Given the description of an element on the screen output the (x, y) to click on. 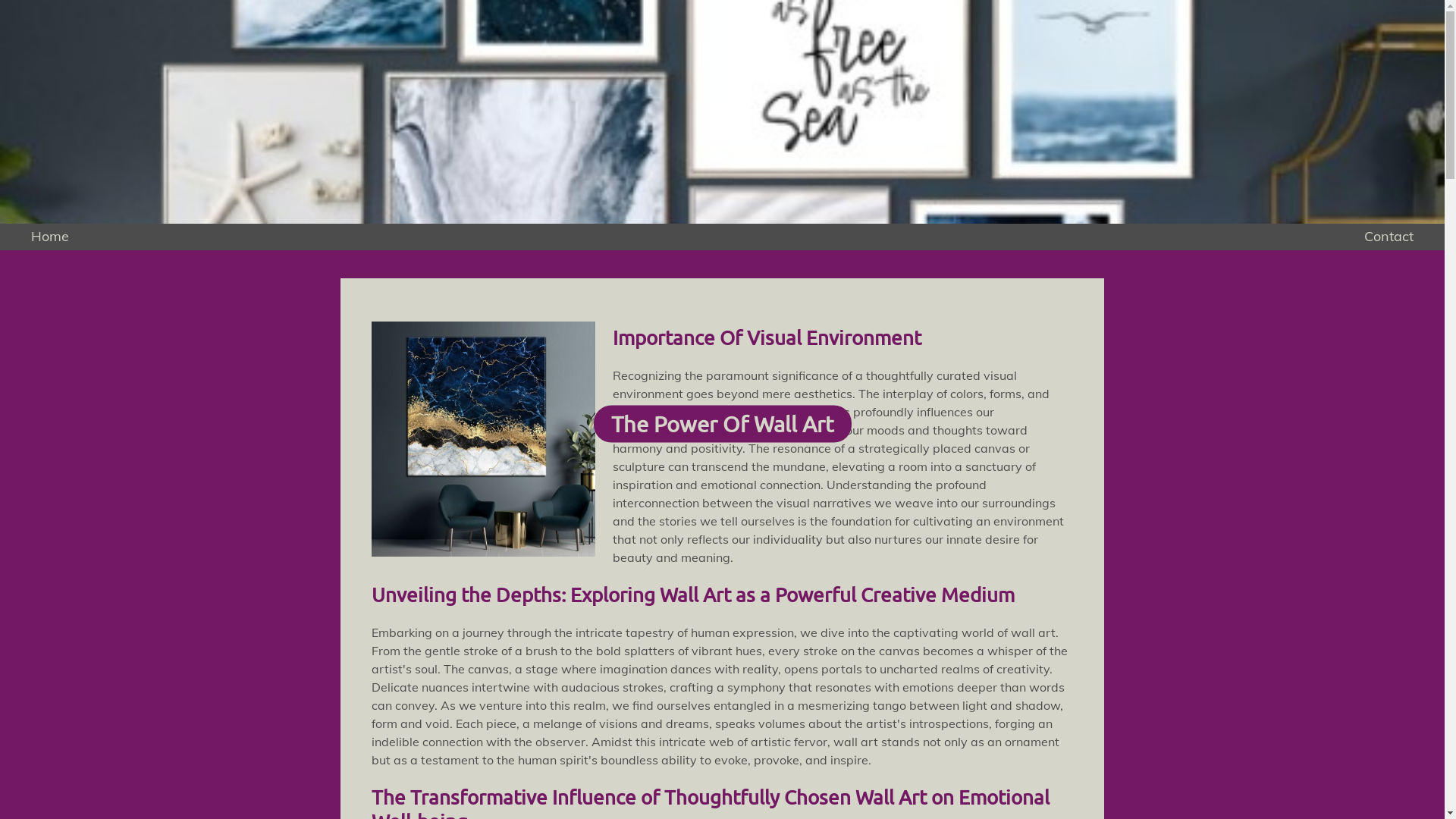
Contact Element type: text (1388, 235)
Home Element type: text (50, 235)
